Given the description of an element on the screen output the (x, y) to click on. 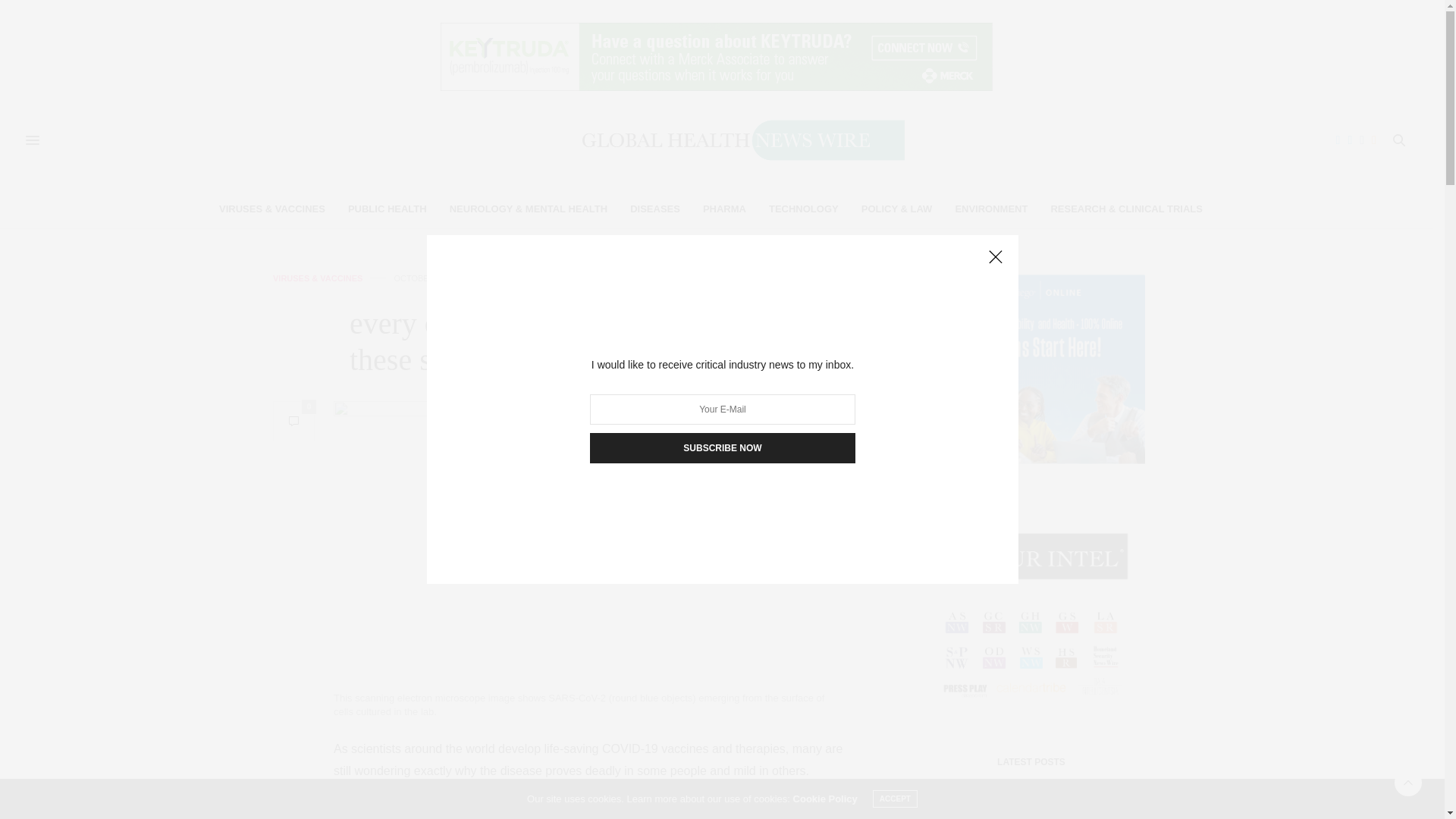
PHARMA (724, 209)
PUBLIC HEALTH (386, 209)
Global Health News Wire (716, 140)
SUBSCRIBE NOW (722, 448)
TECHNOLOGY (803, 209)
HarvestHub App Tackles Supply Chain, Food Insecurity Issues (951, 805)
DISEASES (654, 209)
HarvestHub App Tackles Supply Chain, Food Insecurity Issues (1066, 809)
HarvestHub App Tackles Supply Chain, Food Insecurity Issues (957, 805)
0 (293, 421)
ENVIRONMENT (991, 209)
